Given the description of an element on the screen output the (x, y) to click on. 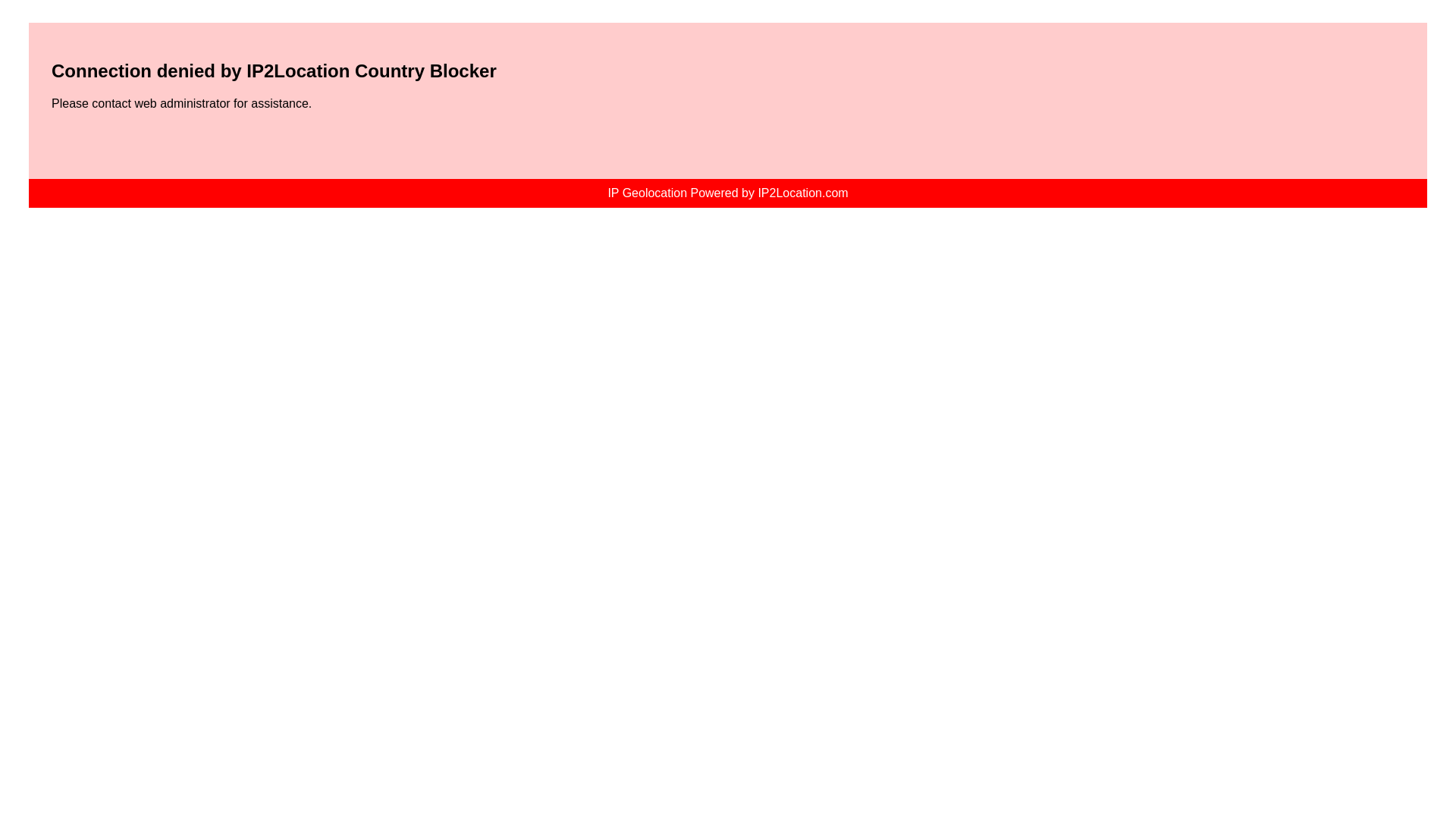
IP Geolocation Powered by IP2Location.com Element type: text (727, 192)
